Given the description of an element on the screen output the (x, y) to click on. 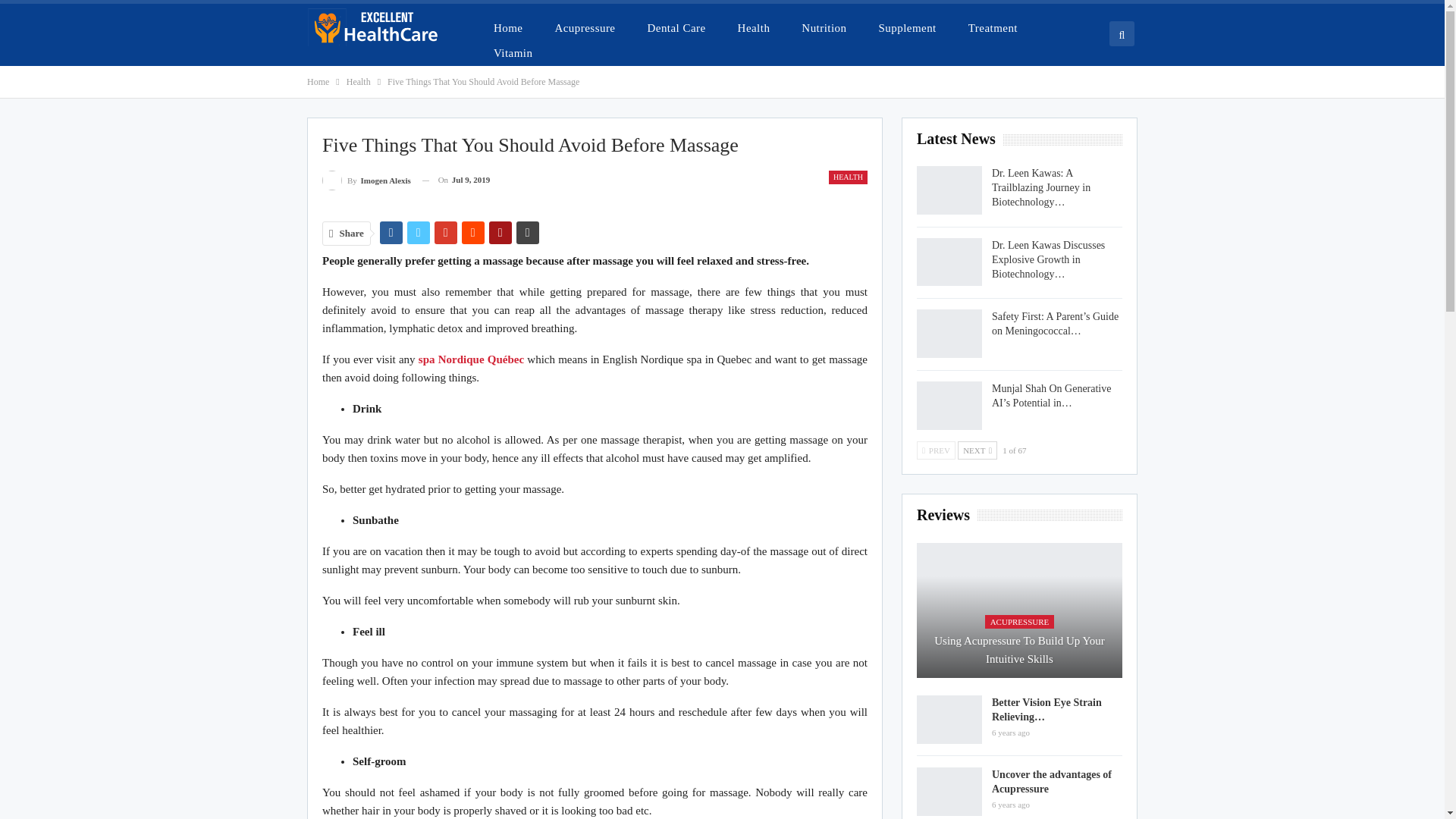
Health (754, 27)
Health (358, 81)
HEALTH (847, 177)
Dental Care (675, 27)
Supplement (906, 27)
Browse Author Articles (365, 179)
By Imogen Alexis (365, 179)
Vitamin (512, 52)
Home (318, 81)
